Given the description of an element on the screen output the (x, y) to click on. 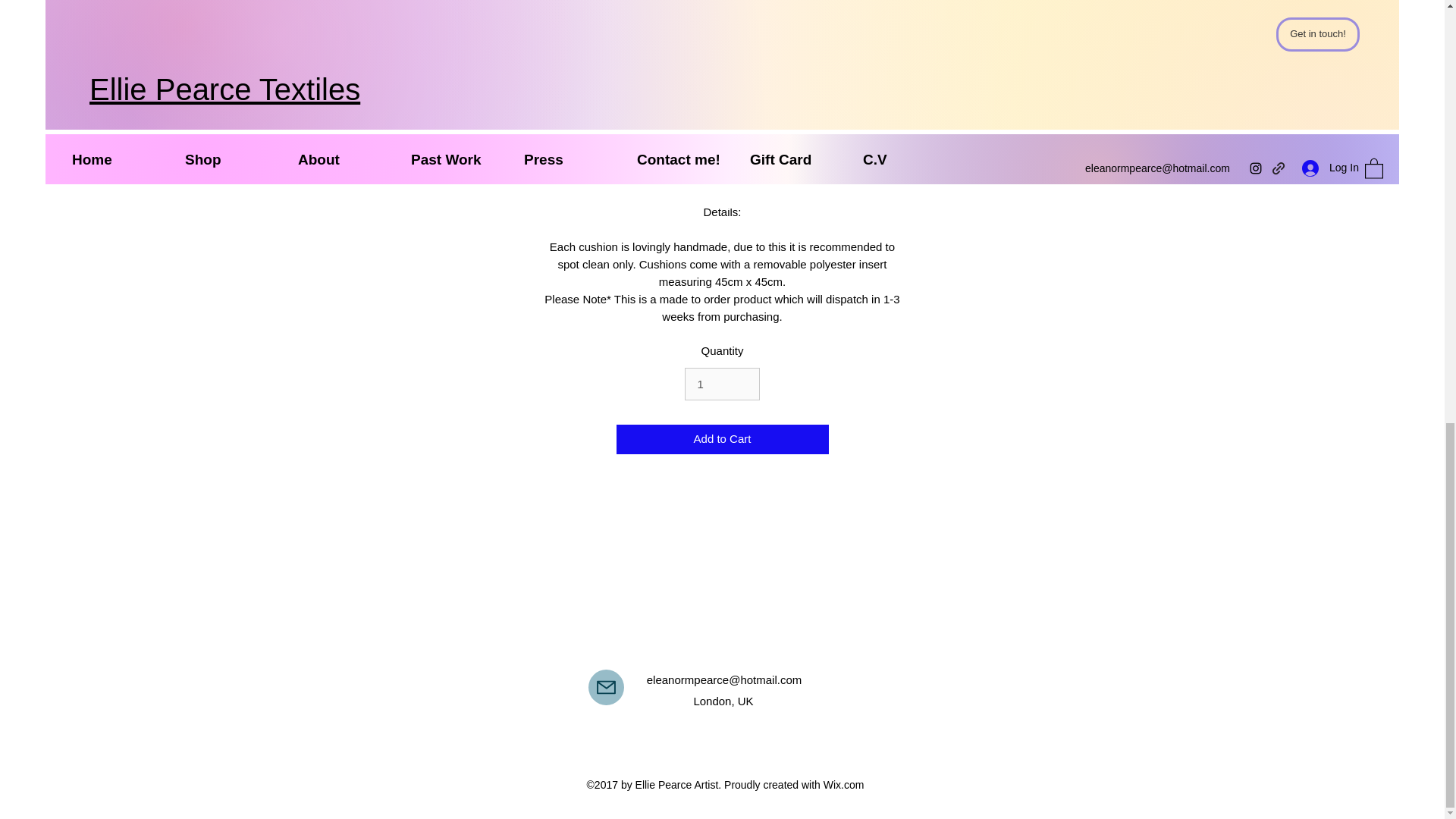
1 (721, 384)
Add to Cart (721, 439)
